Given the description of an element on the screen output the (x, y) to click on. 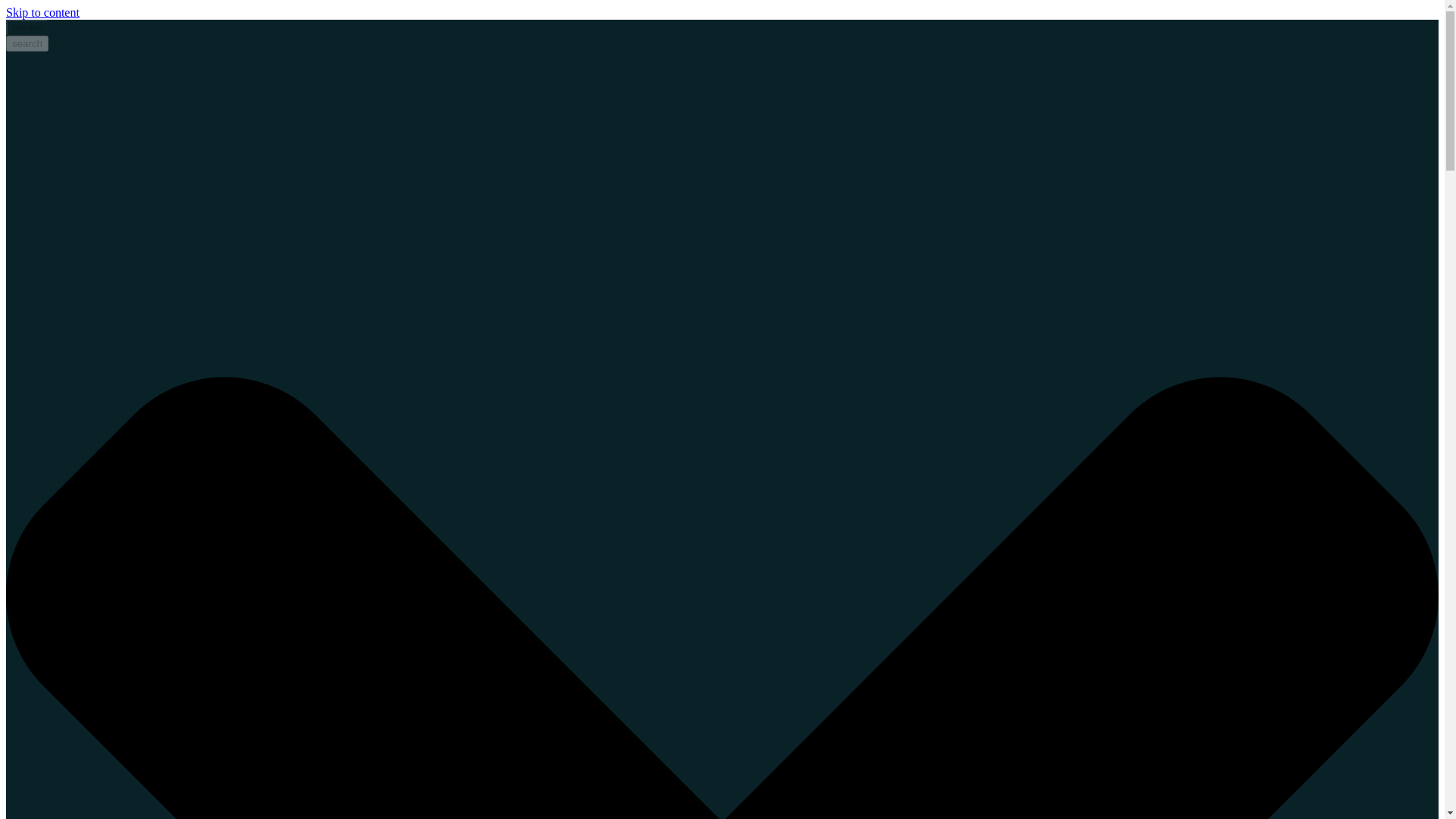
search (26, 43)
burger (26, 27)
Skip to content (42, 11)
